Given the description of an element on the screen output the (x, y) to click on. 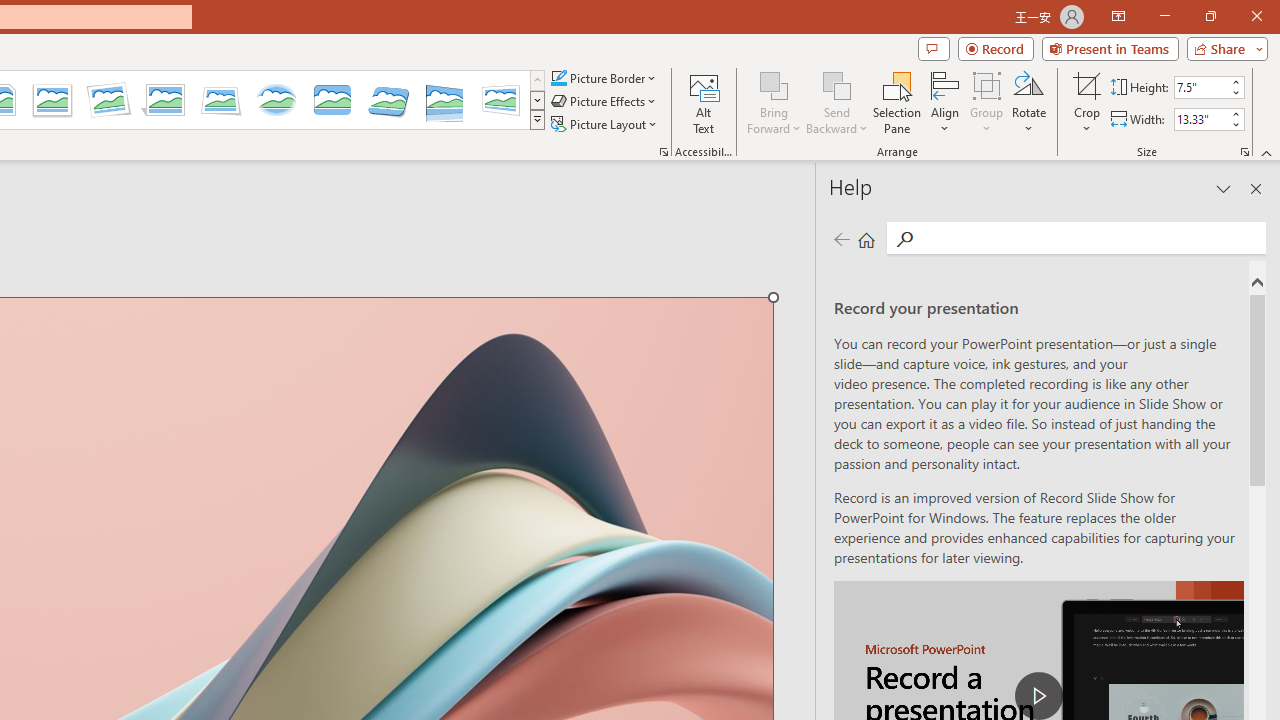
Task Pane Options (1224, 188)
Crop (1087, 102)
More Options (1087, 121)
Class: NetUIImage (537, 119)
Picture Layout (605, 124)
Size and Position... (1244, 151)
Relaxed Perspective, White (221, 100)
